Given the description of an element on the screen output the (x, y) to click on. 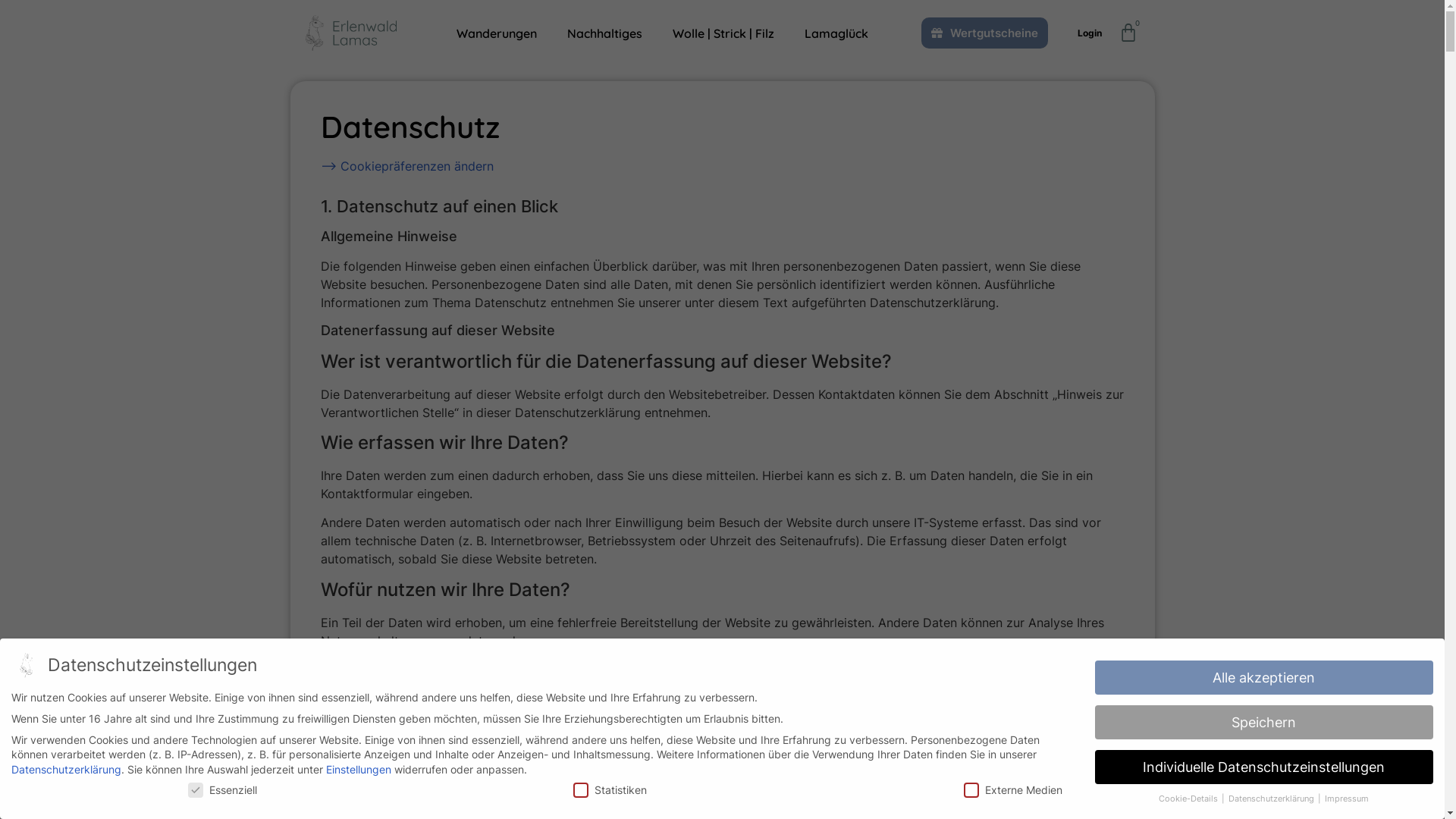
Wertgutscheine Element type: text (984, 32)
Impressum Element type: text (1346, 798)
Speichern Element type: text (1264, 722)
Wolle | Strick | Filz Element type: text (723, 32)
Einstellungen Element type: text (358, 768)
Nachhaltiges Element type: text (604, 32)
Login Element type: text (1089, 32)
Cookie-Details Element type: text (1189, 798)
Wanderungen Element type: text (496, 32)
Alle akzeptieren Element type: text (1264, 677)
0 Element type: text (1128, 32)
Individuelle Datenschutzeinstellungen Element type: text (1264, 766)
